Given the description of an element on the screen output the (x, y) to click on. 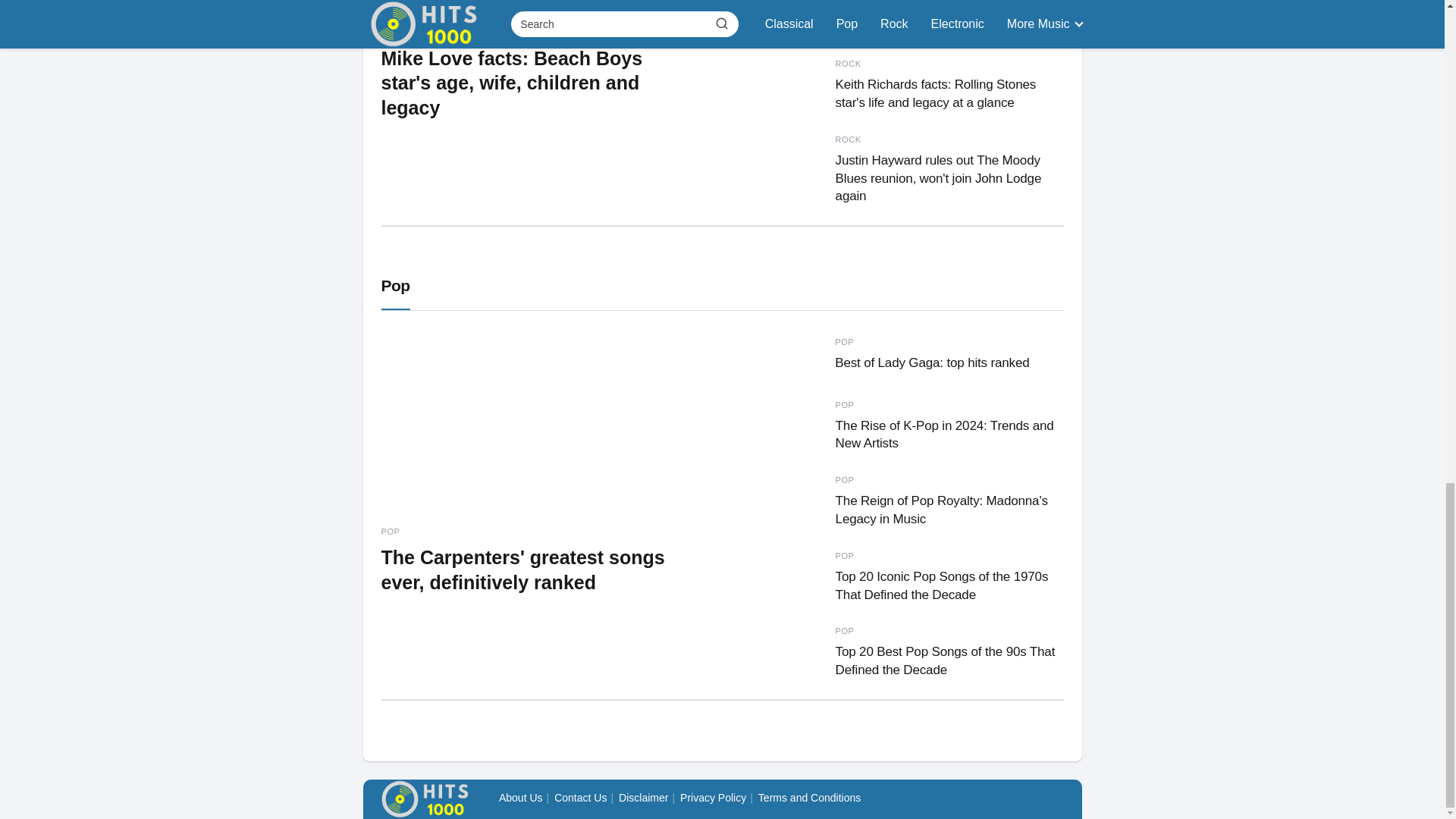
Pop (394, 285)
Contact Us (580, 797)
Disclaimer (643, 797)
